Given the description of an element on the screen output the (x, y) to click on. 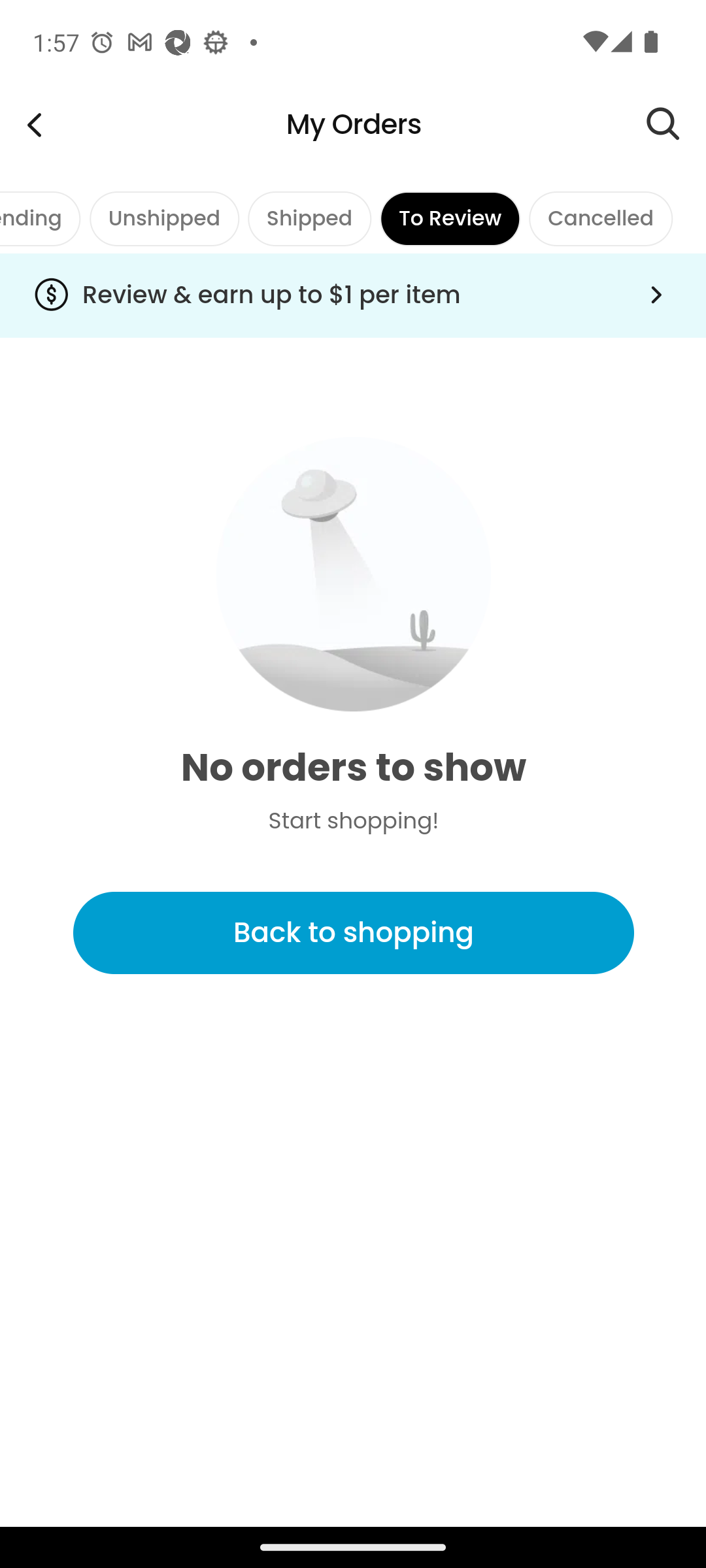
Weee! - Groceries Delivered (33, 124)
 (675, 124)
Pending (41, 218)
Unshipped (163, 218)
Unshipped (163, 218)
Shipped (309, 218)
Shipped (309, 218)
To Review (450, 218)
To Review (450, 218)
Cancelled (600, 218)
Cancelled (600, 218)
 Review & earn up to $1 per item  (353, 294)
Back to shopping (353, 932)
